Given the description of an element on the screen output the (x, y) to click on. 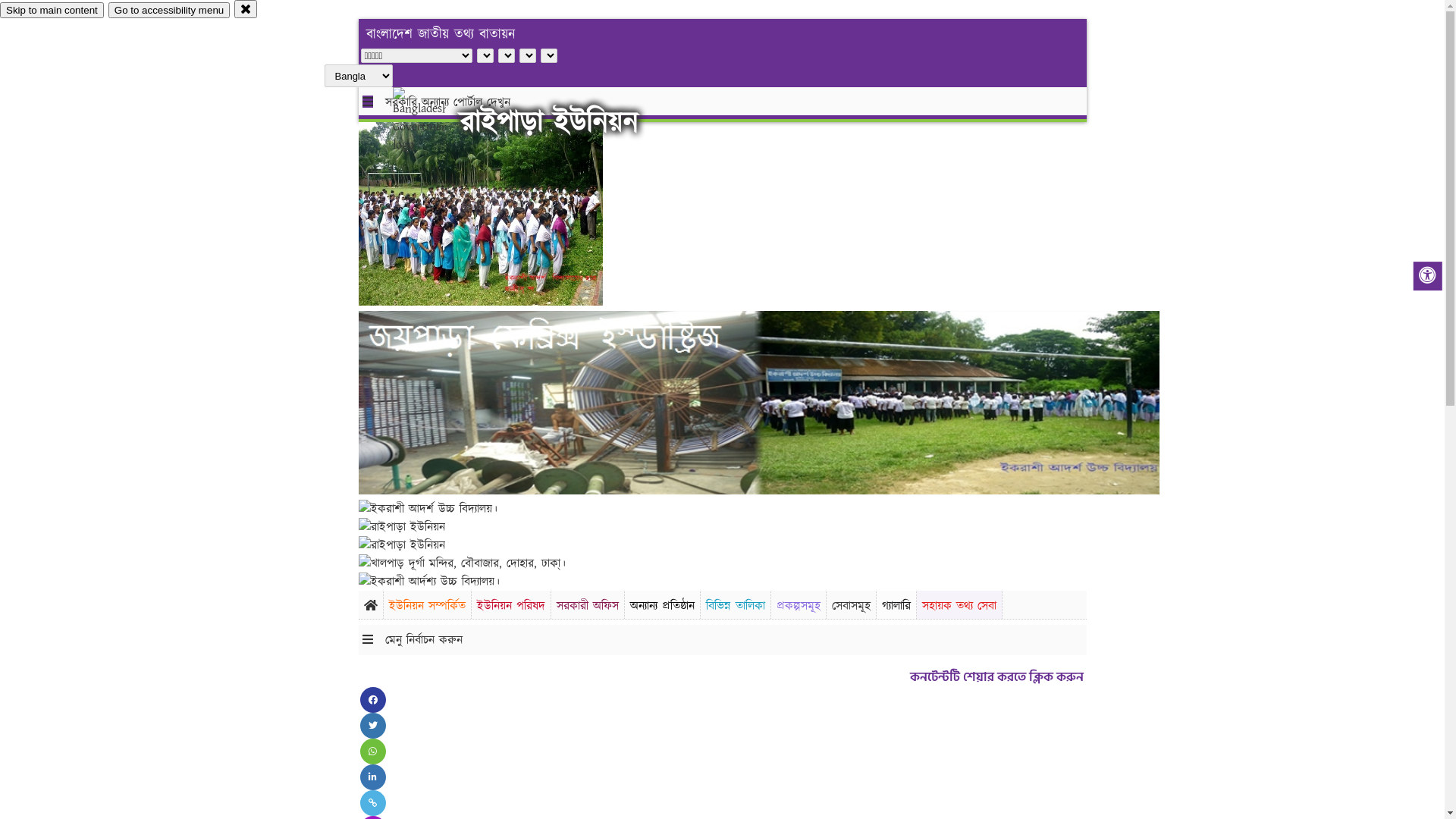
Go to accessibility menu Element type: text (168, 10)
Skip to main content Element type: text (51, 10)

                
             Element type: hover (431, 120)
close Element type: hover (245, 9)
